Given the description of an element on the screen output the (x, y) to click on. 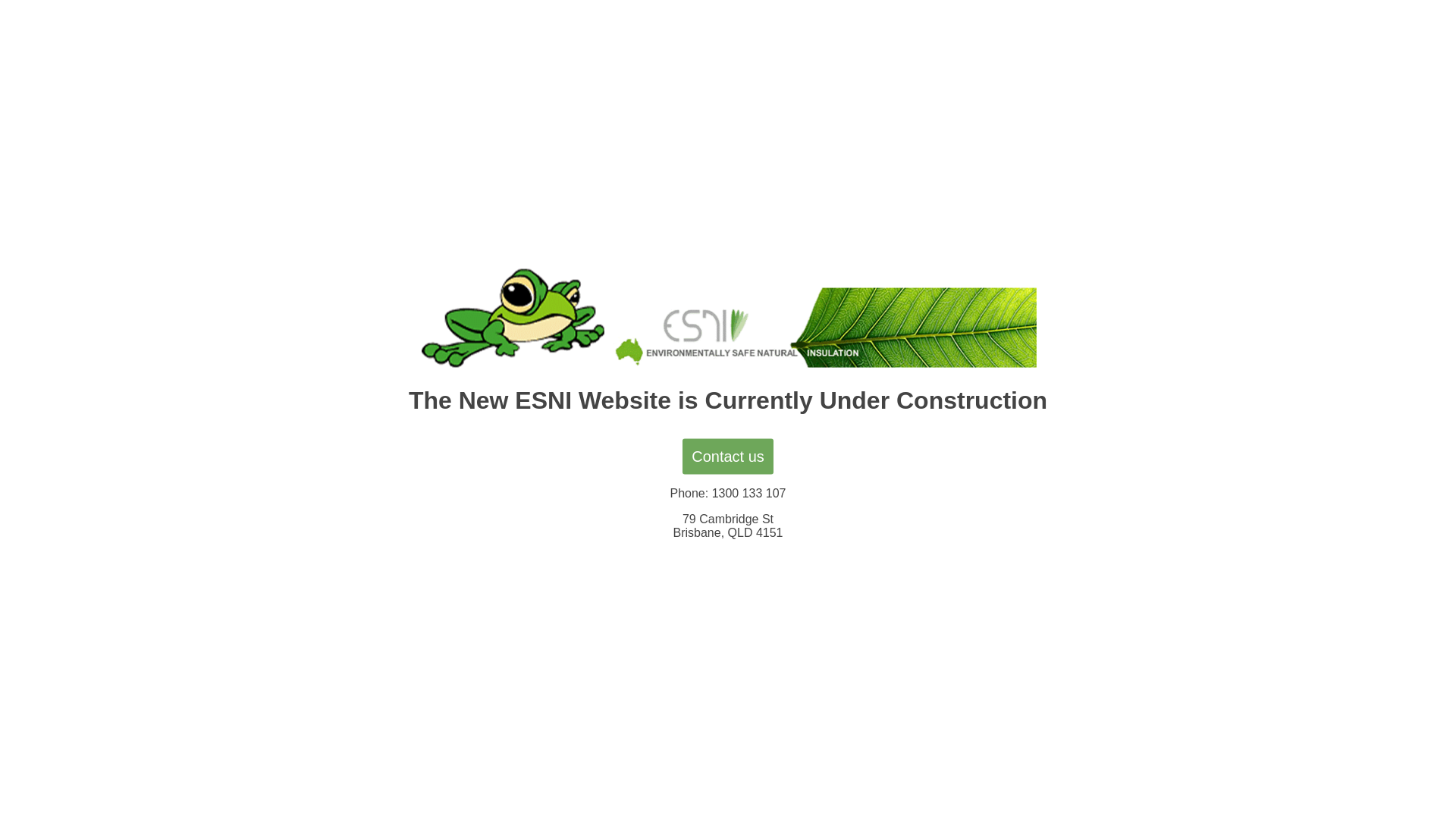
Contact us Element type: text (727, 455)
